Given the description of an element on the screen output the (x, y) to click on. 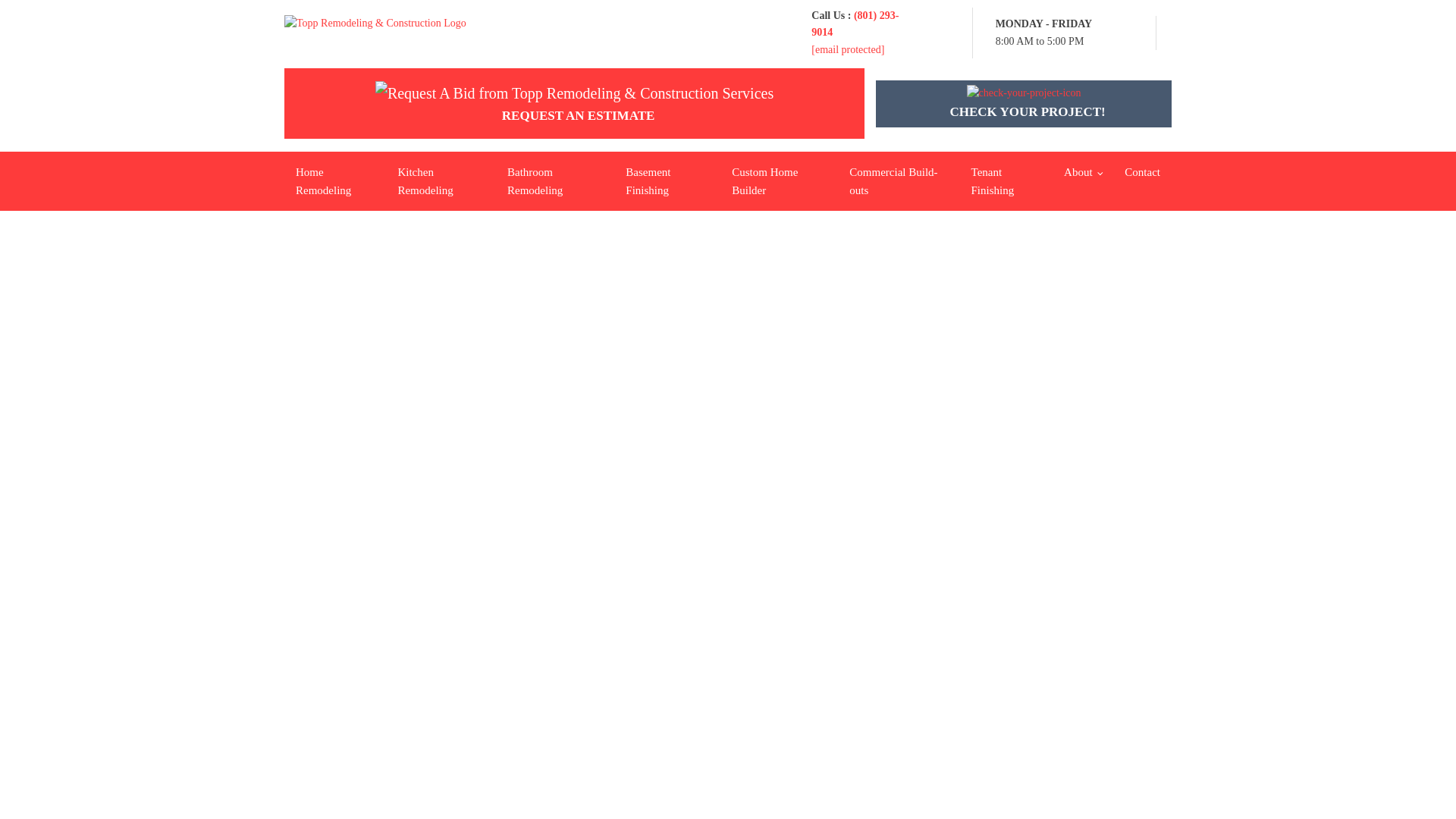
Basement Finishing (667, 180)
About (1082, 171)
Contact (1142, 171)
CHECK YOUR PROJECT! (1024, 103)
Tenant Finishing (1005, 180)
Custom Home Builder (779, 180)
Home Remodeling (334, 180)
Commercial Build-outs (898, 180)
REQUEST AN ESTIMATE (573, 102)
Bathroom Remodeling (555, 180)
Kitchen Remodeling (440, 180)
